Given the description of an element on the screen output the (x, y) to click on. 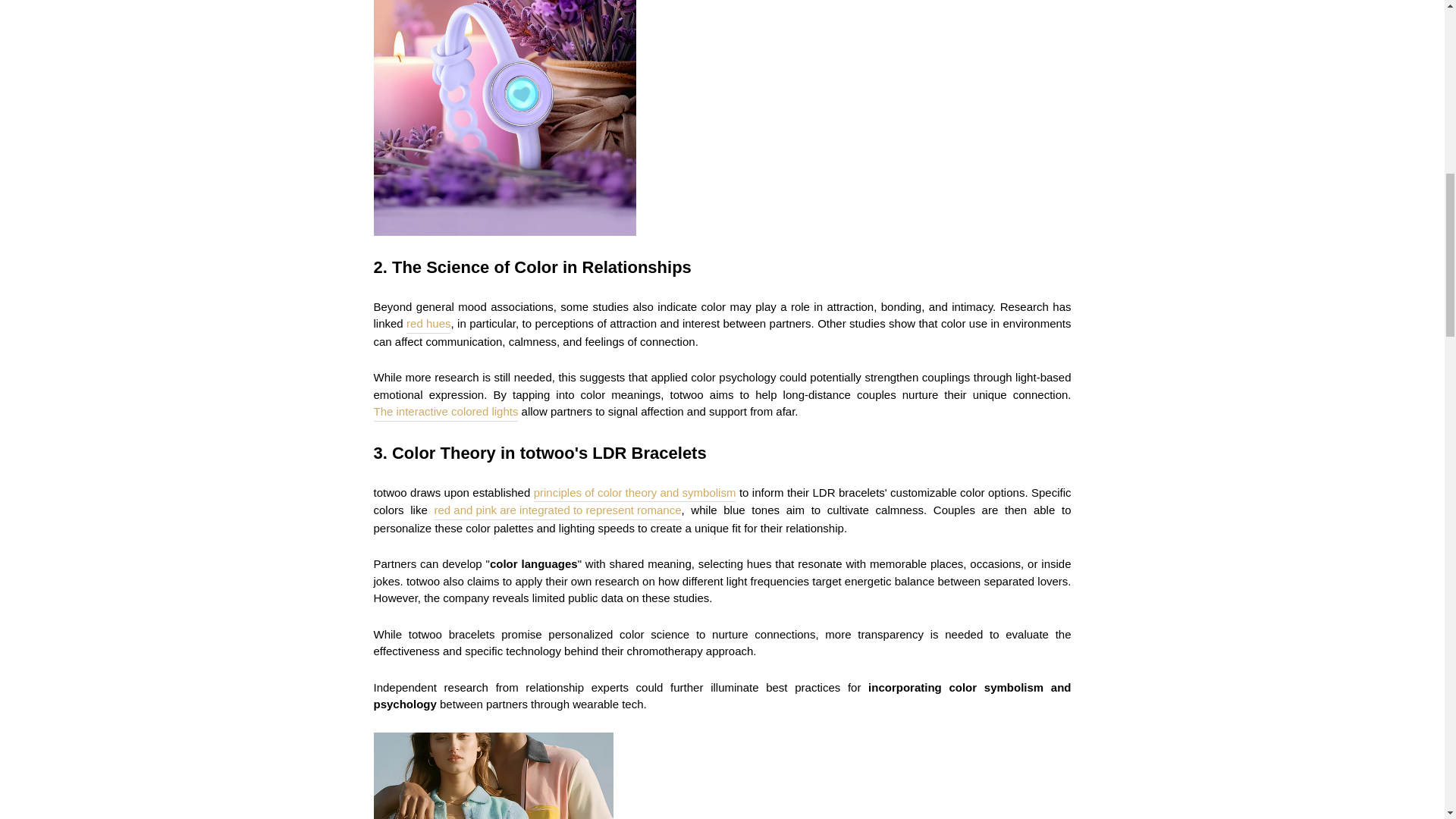
Does LDR work? Distance is never a deal breaker! (445, 412)
The Graphic Designer's Guide to the Psychology of Color (427, 324)
